Given the description of an element on the screen output the (x, y) to click on. 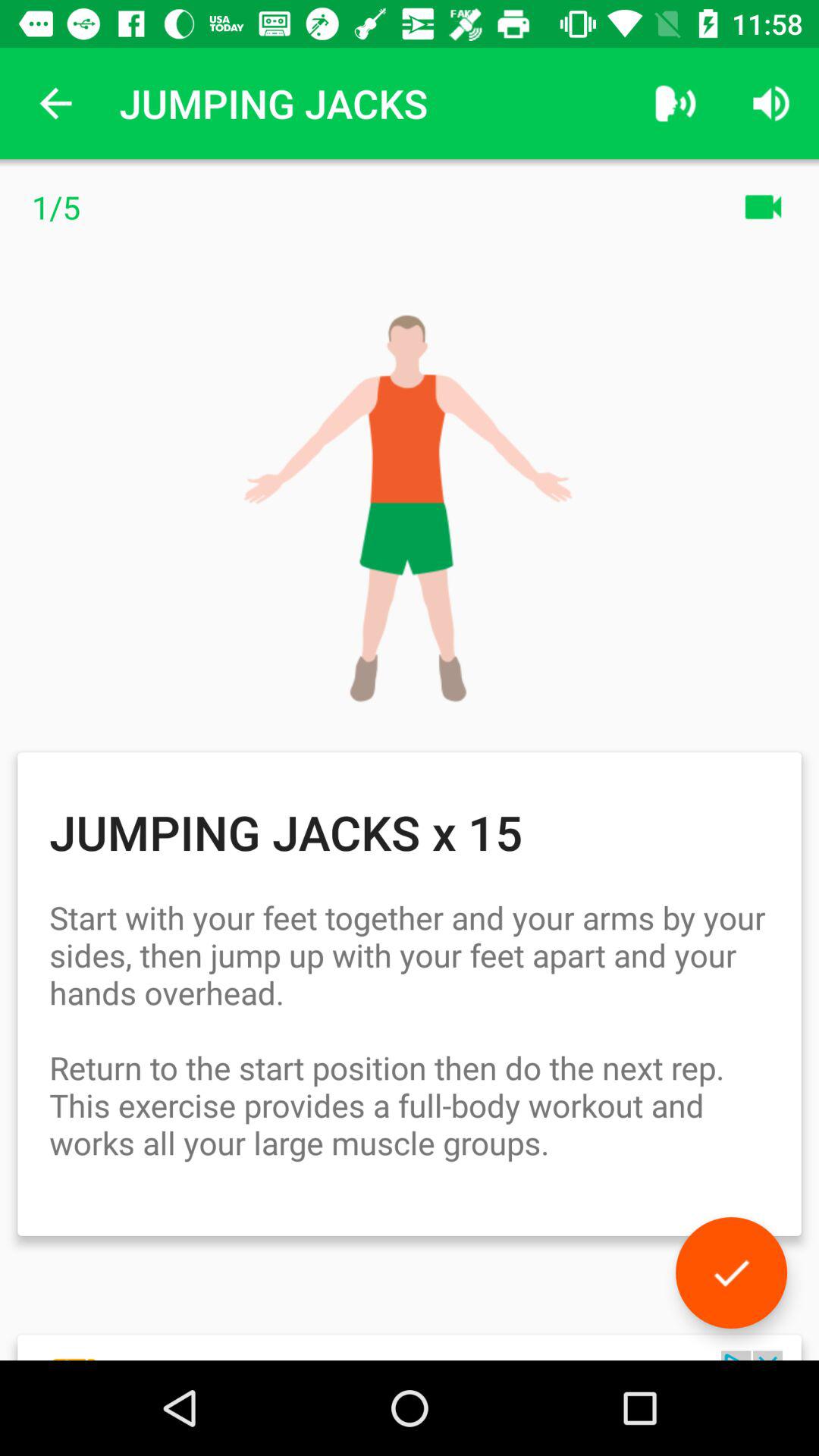
launch item at the bottom right corner (731, 1272)
